Given the description of an element on the screen output the (x, y) to click on. 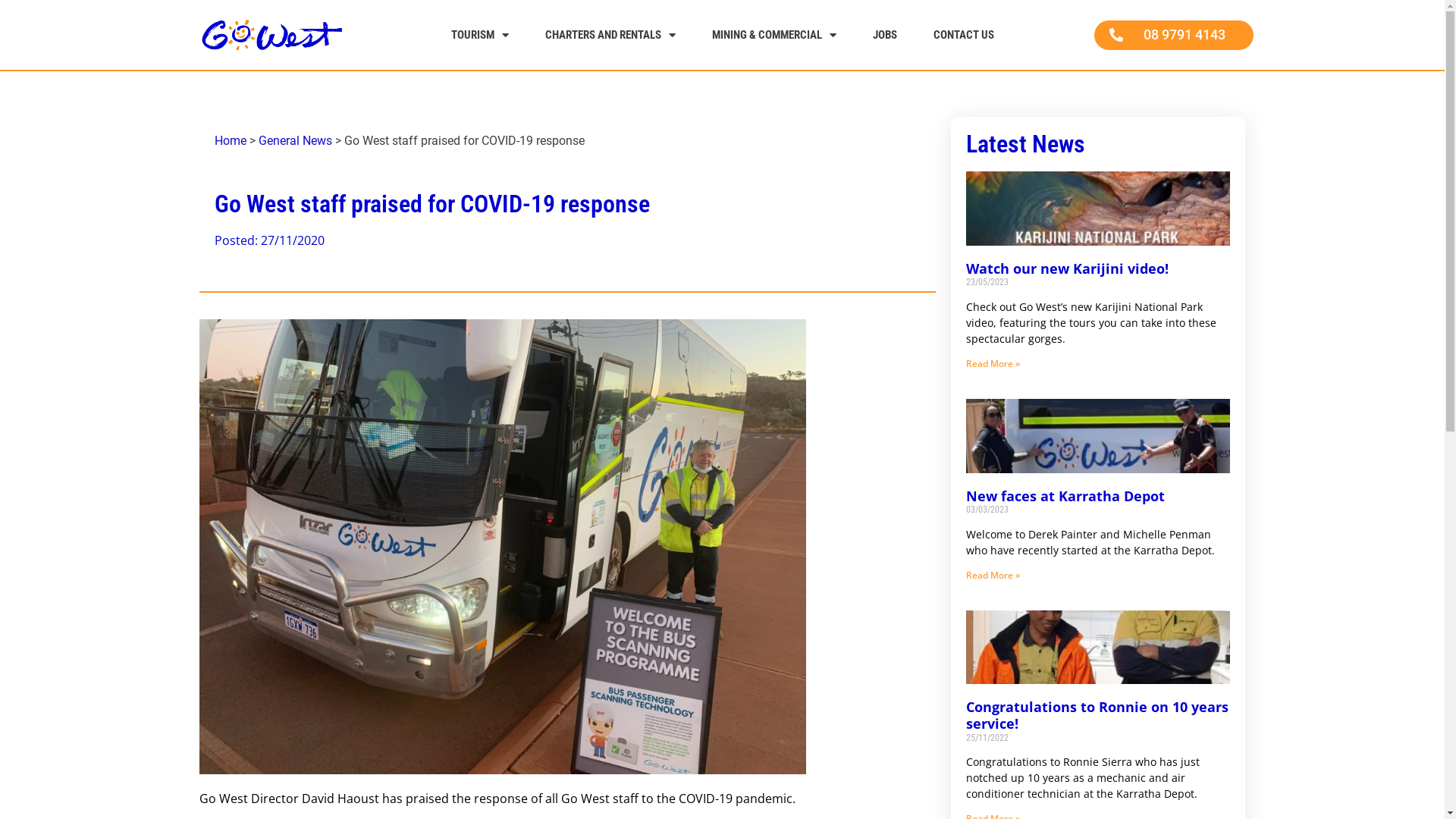
New faces at Karratha Depot Element type: text (1065, 495)
CHARTERS AND RENTALS Element type: text (609, 34)
TOURISM Element type: text (479, 34)
Watch our new Karijini video! Element type: text (1067, 268)
JOBS Element type: text (883, 34)
General News Element type: text (294, 140)
08 9791 4143 Element type: text (1172, 35)
MINING & COMMERCIAL Element type: text (773, 34)
CONTACT US Element type: text (962, 34)
Home Element type: text (229, 140)
Congratulations to Ronnie on 10 years service! Element type: text (1097, 714)
